Given the description of an element on the screen output the (x, y) to click on. 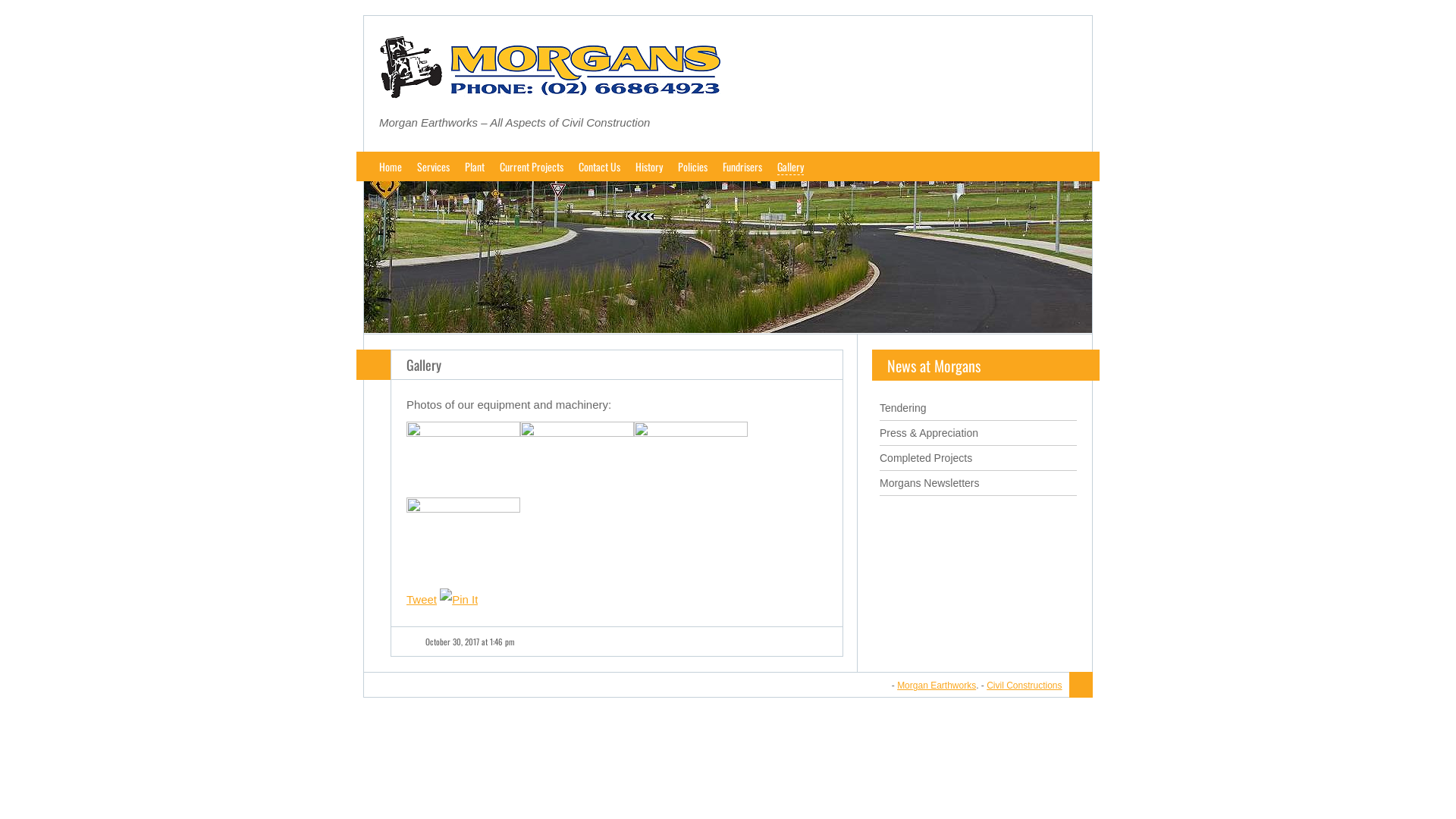
October 30, 2017 at 1:46 pm Element type: text (469, 641)
Morgan Earthworks Element type: text (936, 685)
Contact Us Element type: text (599, 166)
Tweet Element type: text (421, 599)
Home Element type: text (390, 166)
Press & Appreciation Element type: text (928, 432)
Civil Constructions Element type: text (1023, 685)
Current Projects Element type: text (531, 166)
Gallery Element type: text (423, 364)
Completed Projects Element type: text (925, 457)
Policies Element type: text (692, 166)
Top Element type: hover (1080, 685)
Services Element type: text (433, 166)
History Element type: text (648, 166)
Fundrisers Element type: text (742, 166)
Plant Element type: text (474, 166)
Tendering Element type: text (902, 407)
Morgans Newsletters Element type: text (929, 482)
Gallery Element type: text (790, 166)
Pin It Element type: hover (458, 599)
